Given the description of an element on the screen output the (x, y) to click on. 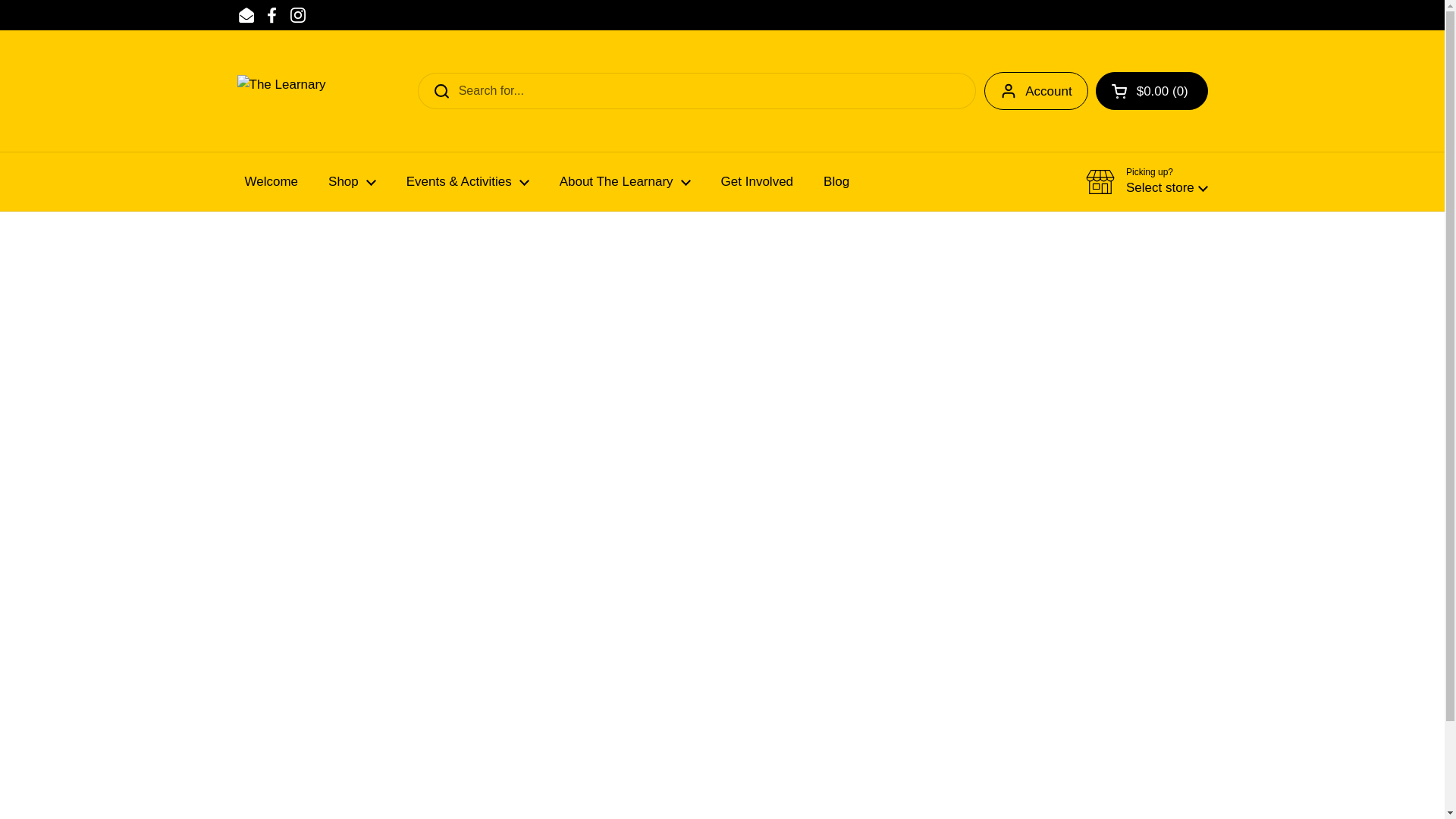
Account (1035, 90)
Open cart (1152, 90)
Facebook (271, 14)
Shop (352, 181)
Email (244, 14)
Instagram (296, 14)
The Learnary (340, 90)
Welcome (270, 181)
